Given the description of an element on the screen output the (x, y) to click on. 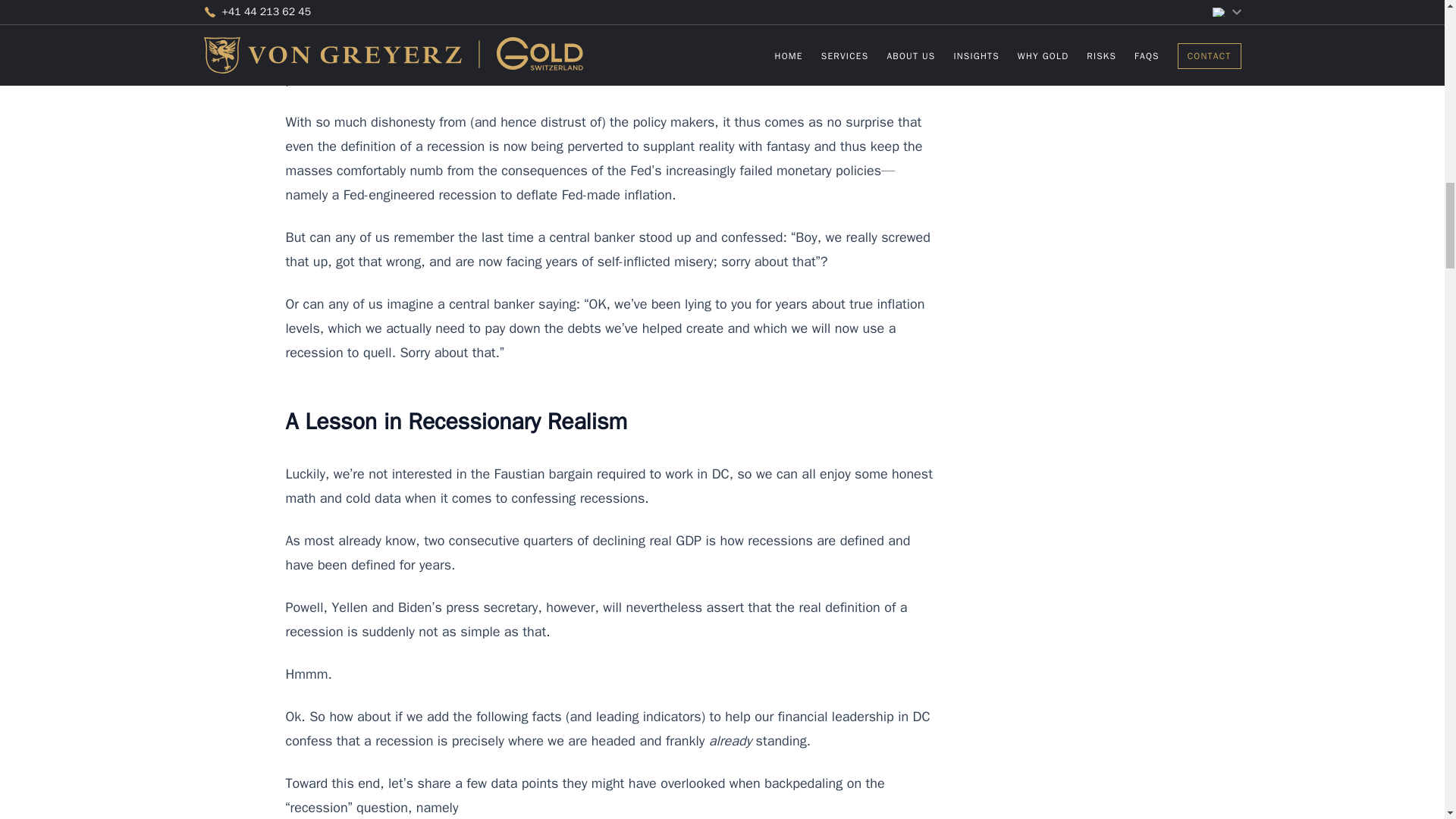
CPI Inflation (849, 30)
negative real rates (777, 54)
M3 Money Supply (361, 54)
